Given the description of an element on the screen output the (x, y) to click on. 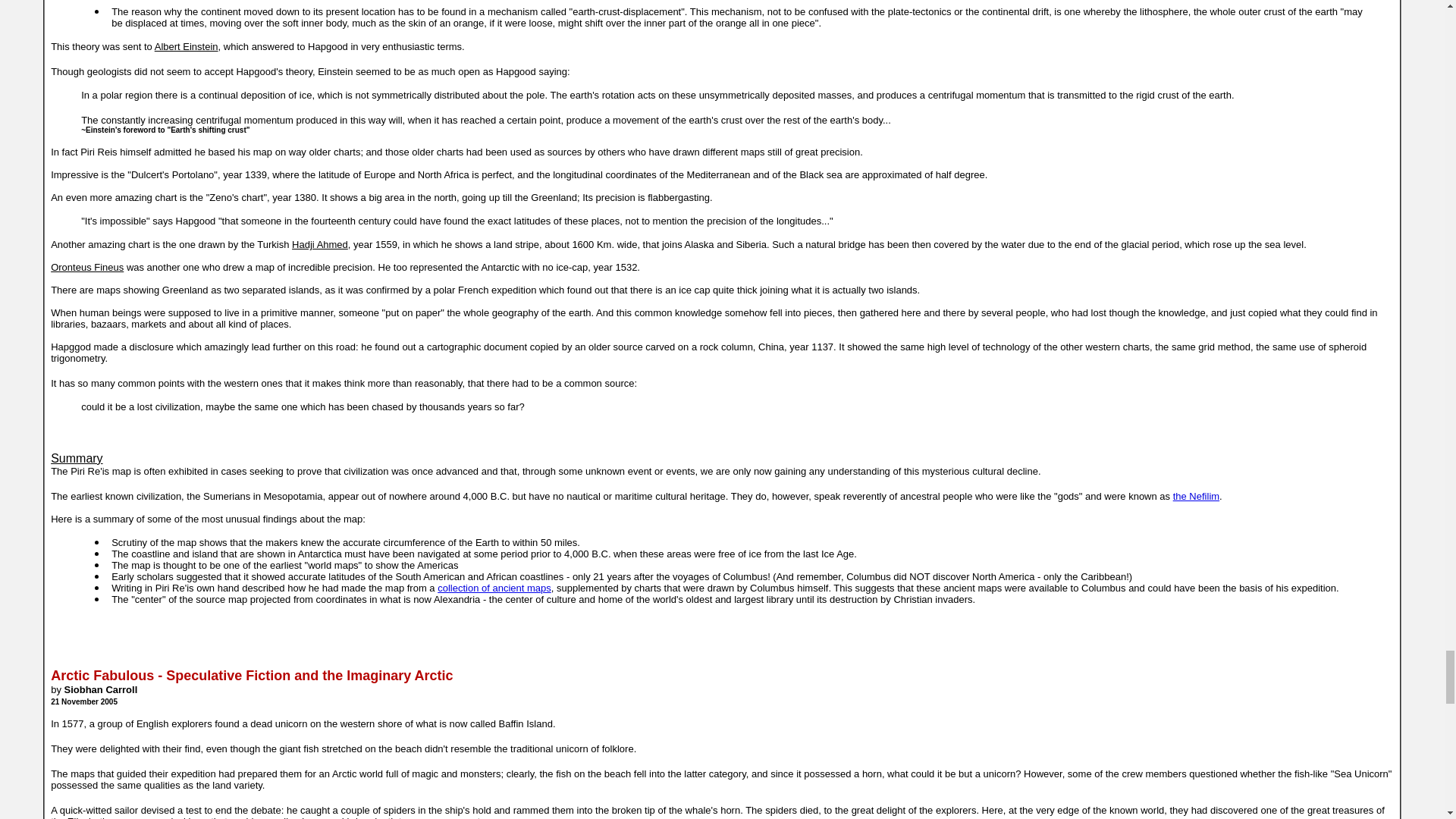
the Nefilim (1196, 496)
collection of ancient maps (494, 587)
